Given the description of an element on the screen output the (x, y) to click on. 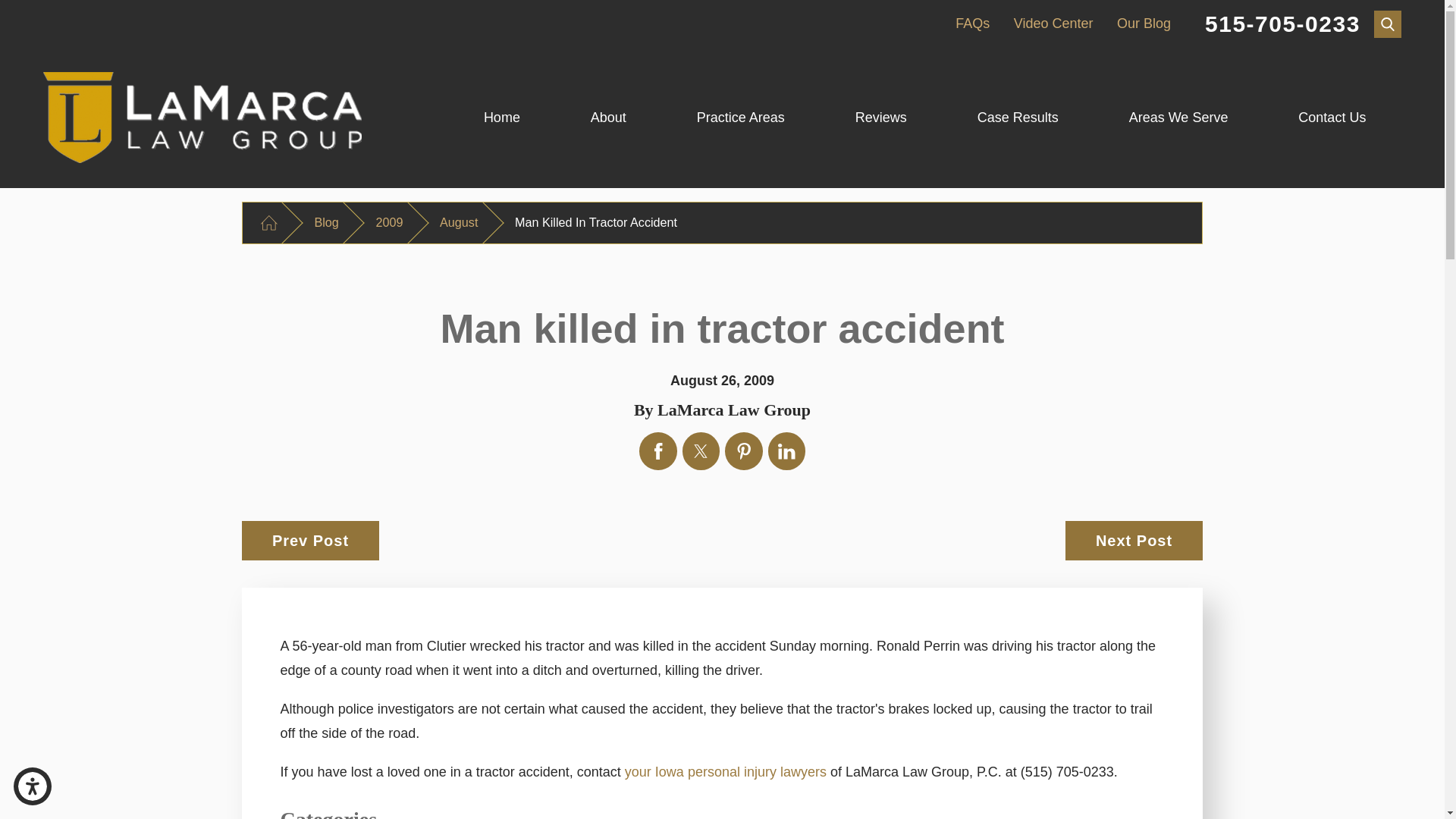
Open the accessibility options menu (31, 786)
FAQs (972, 23)
Our Blog (1143, 23)
LaMarca Law Group, P.C. (202, 117)
515-705-0233 (1282, 23)
Practice Areas (740, 117)
Go Home (269, 222)
Video Center (1053, 23)
Search Our Site (1387, 23)
Search Icon (1387, 23)
